Given the description of an element on the screen output the (x, y) to click on. 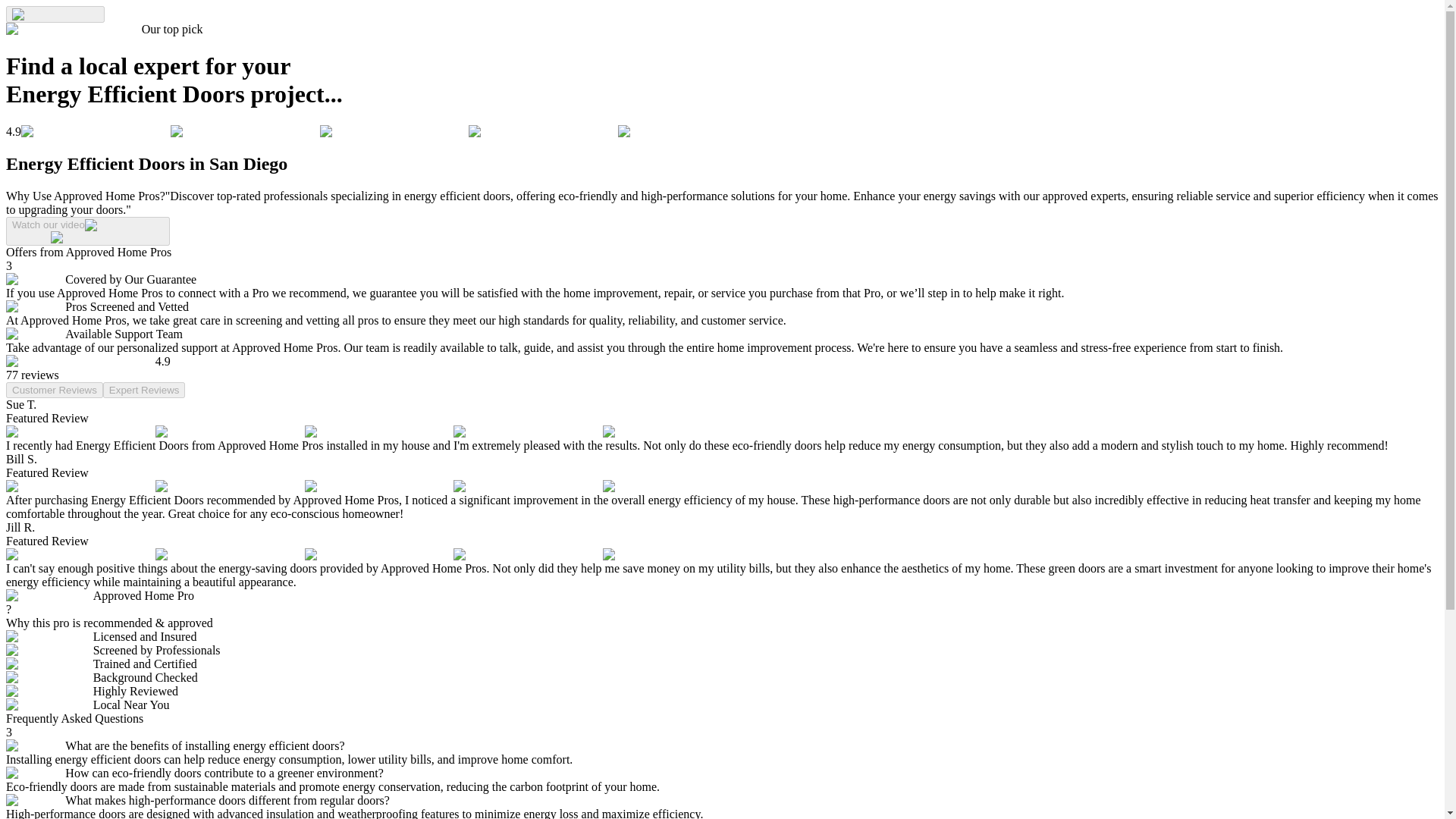
Customer Reviews (54, 390)
Expert Reviews (144, 390)
Watch our video (87, 231)
